Given the description of an element on the screen output the (x, y) to click on. 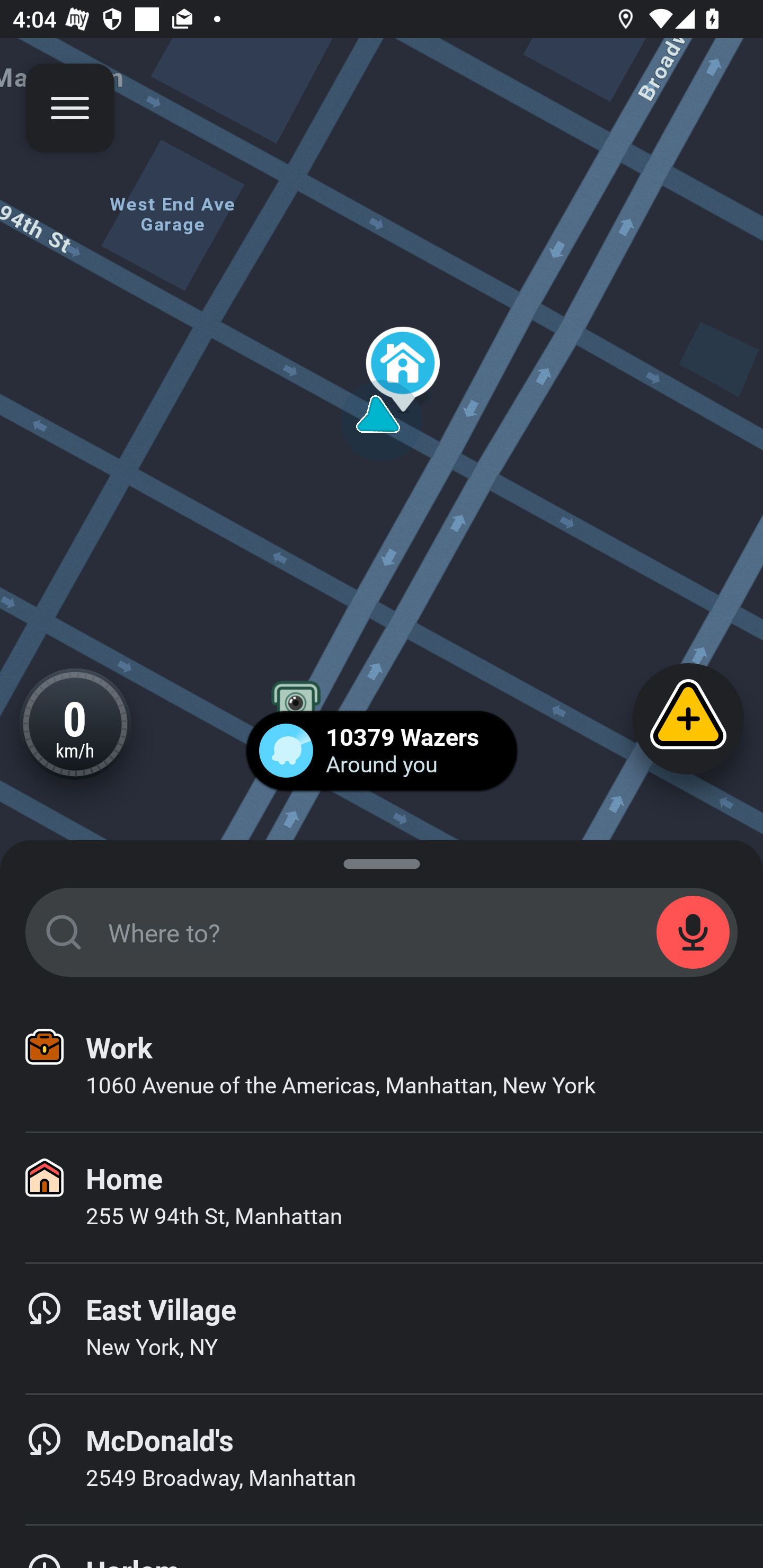
SUGGESTIONS_SHEET_DRAG_HANDLE (381, 860)
START_STATE_SEARCH_FIELD Where to? (381, 931)
Home 255 W 94th St, Manhattan (381, 1197)
East Village New York, NY (381, 1328)
McDonald's 2549 Broadway, Manhattan (381, 1459)
